Given the description of an element on the screen output the (x, y) to click on. 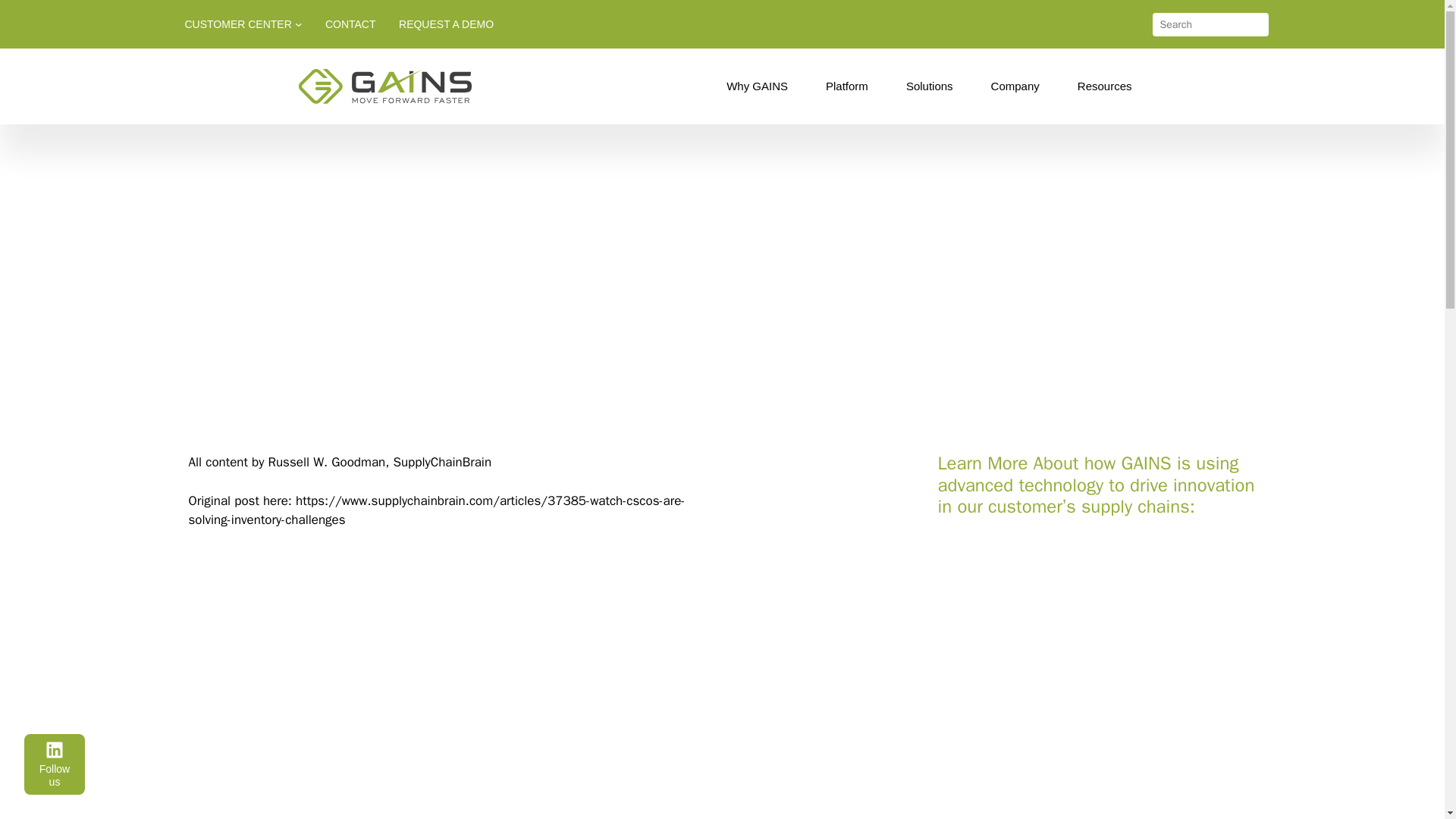
Platform (850, 85)
vimeo-player (429, 683)
Why GAINS (760, 85)
CONTACT (349, 24)
CUSTOMER CENTER (238, 24)
Solutions (933, 85)
REQUEST A DEMO (445, 24)
